Given the description of an element on the screen output the (x, y) to click on. 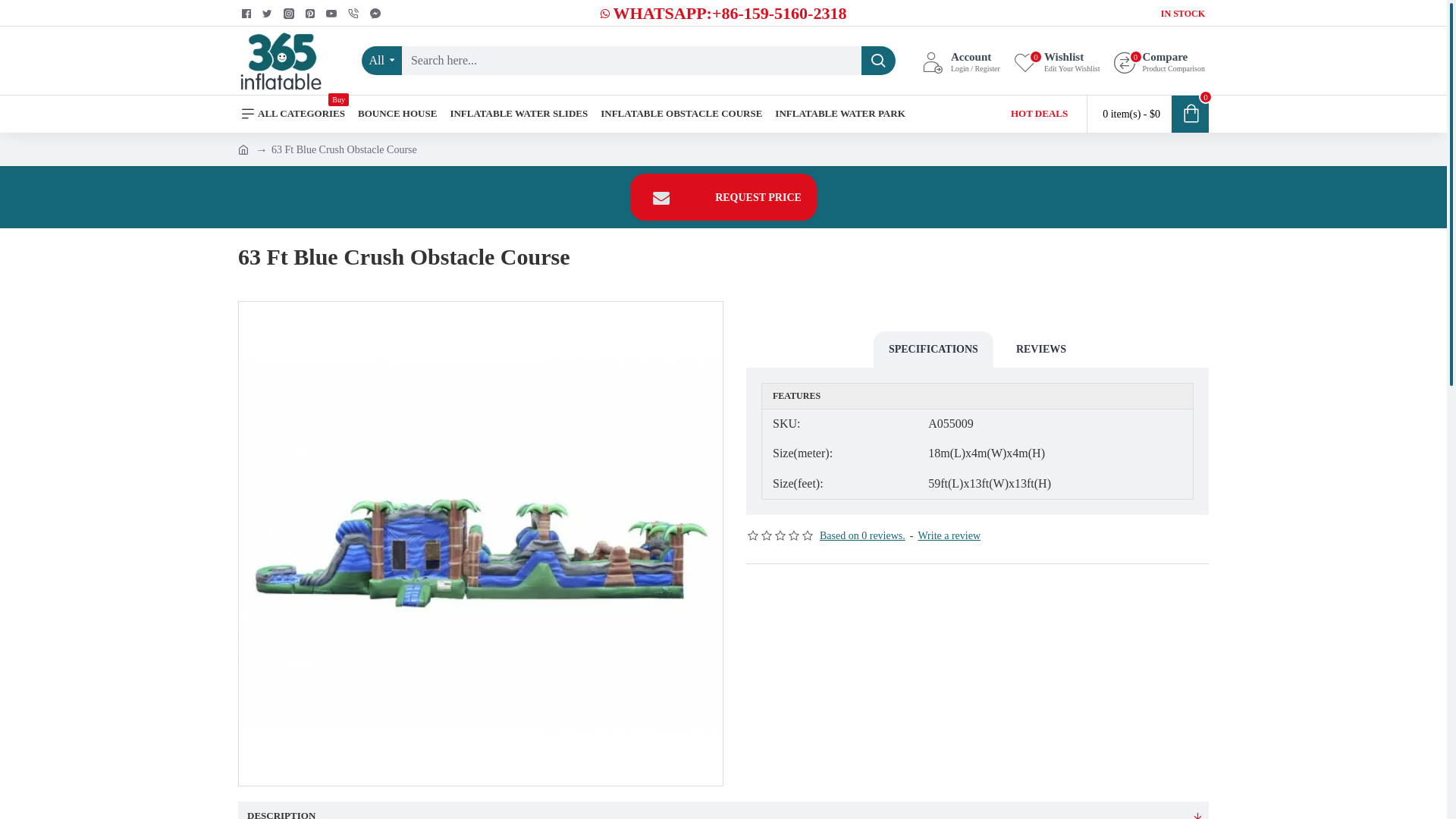
HOT DEALS Element type: text (1039, 113)
REQUEST PRICE Element type: text (723, 196)
SPECIFICATIONS Element type: text (933, 349)
Write a review Element type: text (948, 535)
IN STOCK Element type: text (1182, 13)
Wishlist
Edit Your Wishlist
0 Element type: text (1057, 59)
0 item(s) - $0
0 Element type: text (1147, 113)
63 Ft Blue Crush Obstacle Course Element type: hover (480, 543)
INFLATABLE WATER SLIDES Element type: text (518, 113)
Compare
Product Comparison
0 Element type: text (1159, 59)
63 Ft Blue Crush Obstacle Course Element type: text (344, 148)
INFLATABLE OBSTACLE COURSE Element type: text (680, 113)
365inflatable.com Element type: hover (280, 60)
REVIEWS Element type: text (1041, 349)
Account
Login / Register Element type: text (961, 59)
INFLATABLE WATER PARK Element type: text (839, 113)
ALL CATEGORIES
Buy Element type: text (293, 113)
Based on 0 reviews. Element type: text (862, 535)
BOUNCE HOUSE Element type: text (397, 113)
WHATSAPP:+86-159-5160-2318 Element type: text (723, 13)
